Given the description of an element on the screen output the (x, y) to click on. 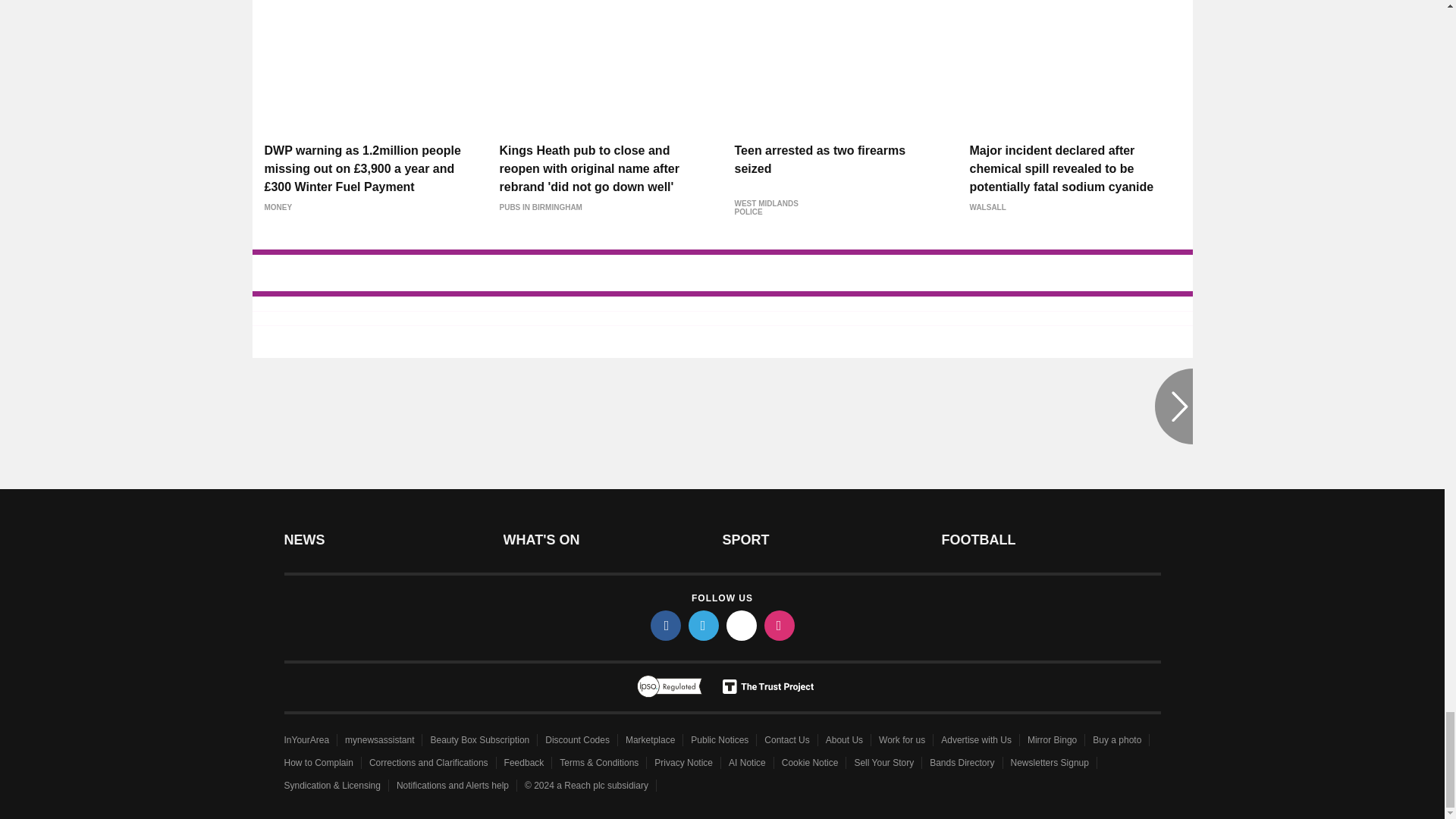
facebook (665, 625)
tiktok (741, 625)
instagram (779, 625)
twitter (703, 625)
